Given the description of an element on the screen output the (x, y) to click on. 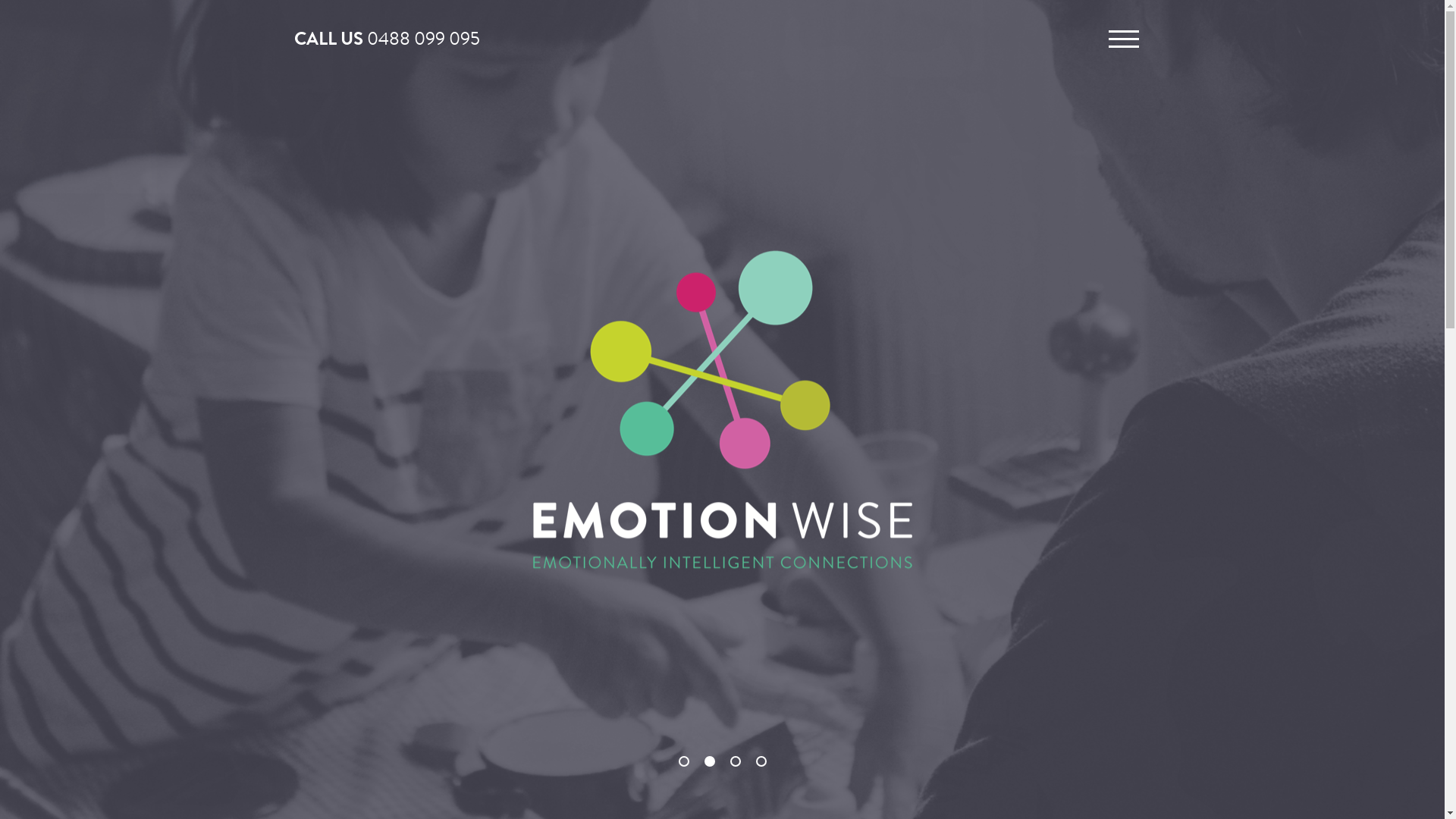
Emotionally Intelligent Connections Element type: hover (721, 407)
